Given the description of an element on the screen output the (x, y) to click on. 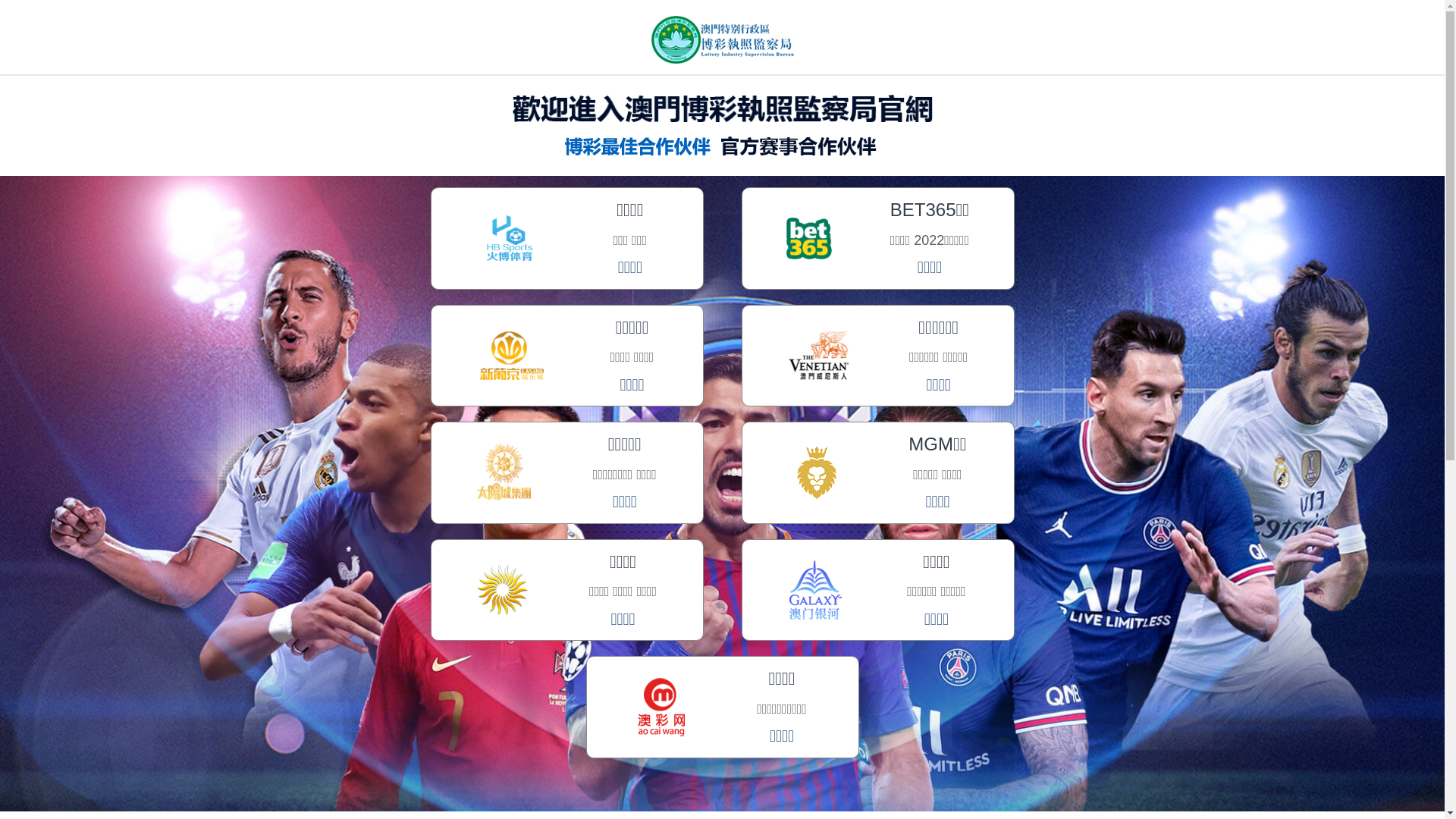
Go Element type: text (559, 15)
